Given the description of an element on the screen output the (x, y) to click on. 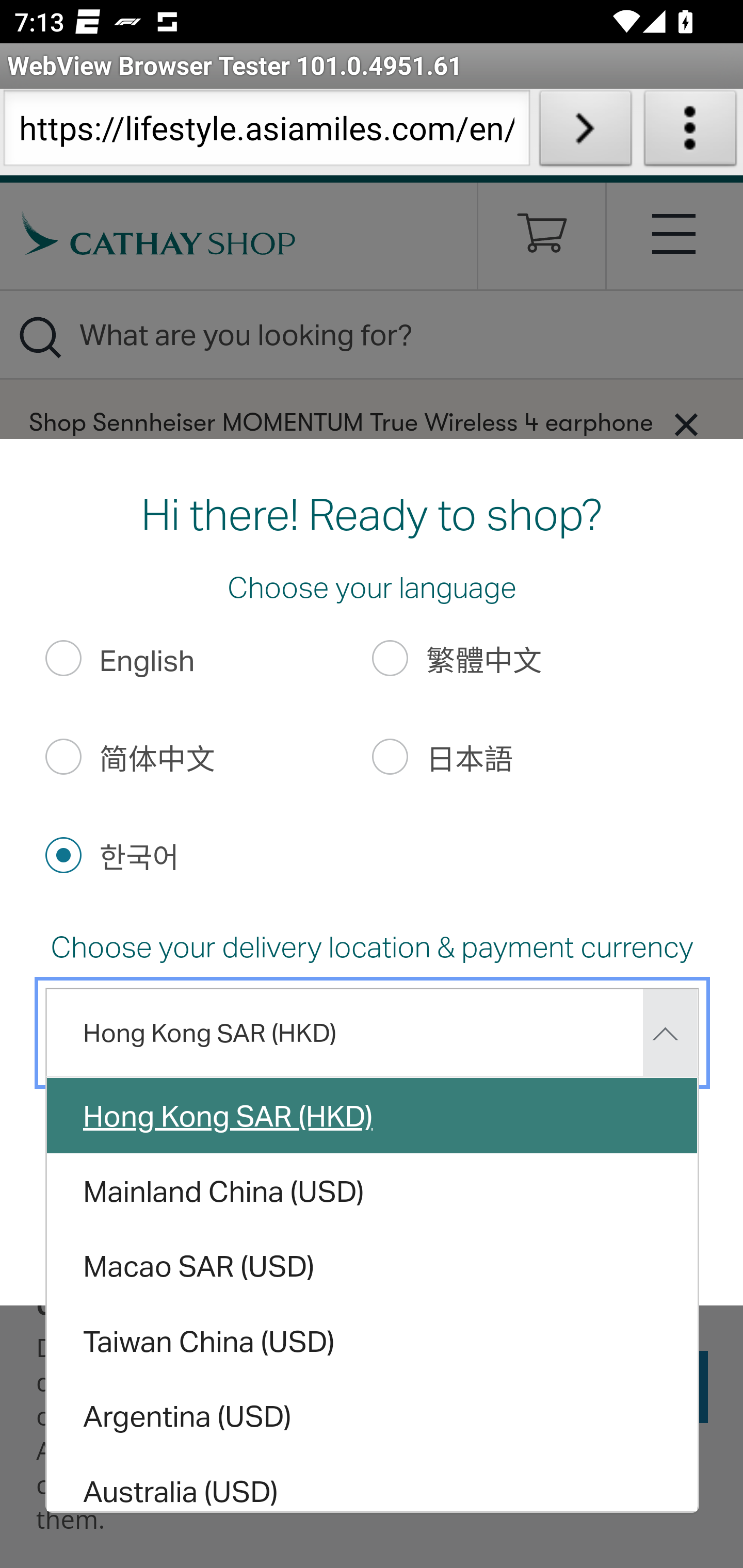
Load URL (585, 132)
About WebView (690, 132)
English (63, 658)
繁體中文 (390, 658)
简体中文 (63, 756)
日本語 (390, 756)
한국어 (63, 854)
Hong Kong SAR (HKD) (372, 1114)
Mainland China (USD) (372, 1190)
Macao SAR (USD) (372, 1265)
Taiwan China (USD) (372, 1340)
Argentina (USD) (372, 1416)
